Given the description of an element on the screen output the (x, y) to click on. 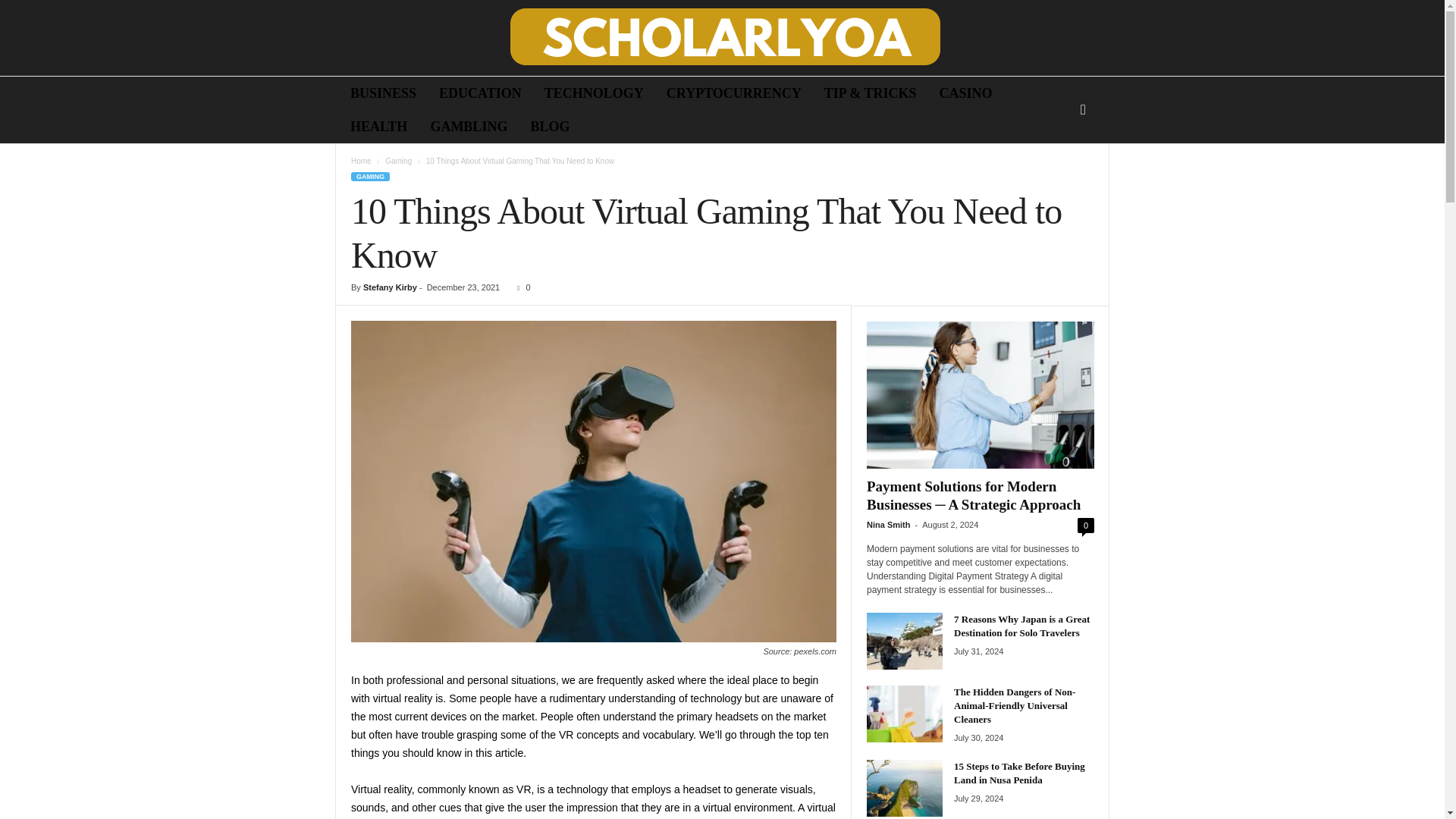
HEALTH (379, 126)
View all posts in Gaming (398, 161)
TECHNOLOGY (593, 92)
BUSINESS (383, 92)
0 (520, 286)
BLOG (549, 126)
CRYPTOCURRENCY (733, 92)
EDUCATION (480, 92)
GAMBLING (468, 126)
CASINO (966, 92)
Gaming (398, 161)
Home (360, 161)
GAMING (370, 175)
Stefany Kirby (389, 286)
